Given the description of an element on the screen output the (x, y) to click on. 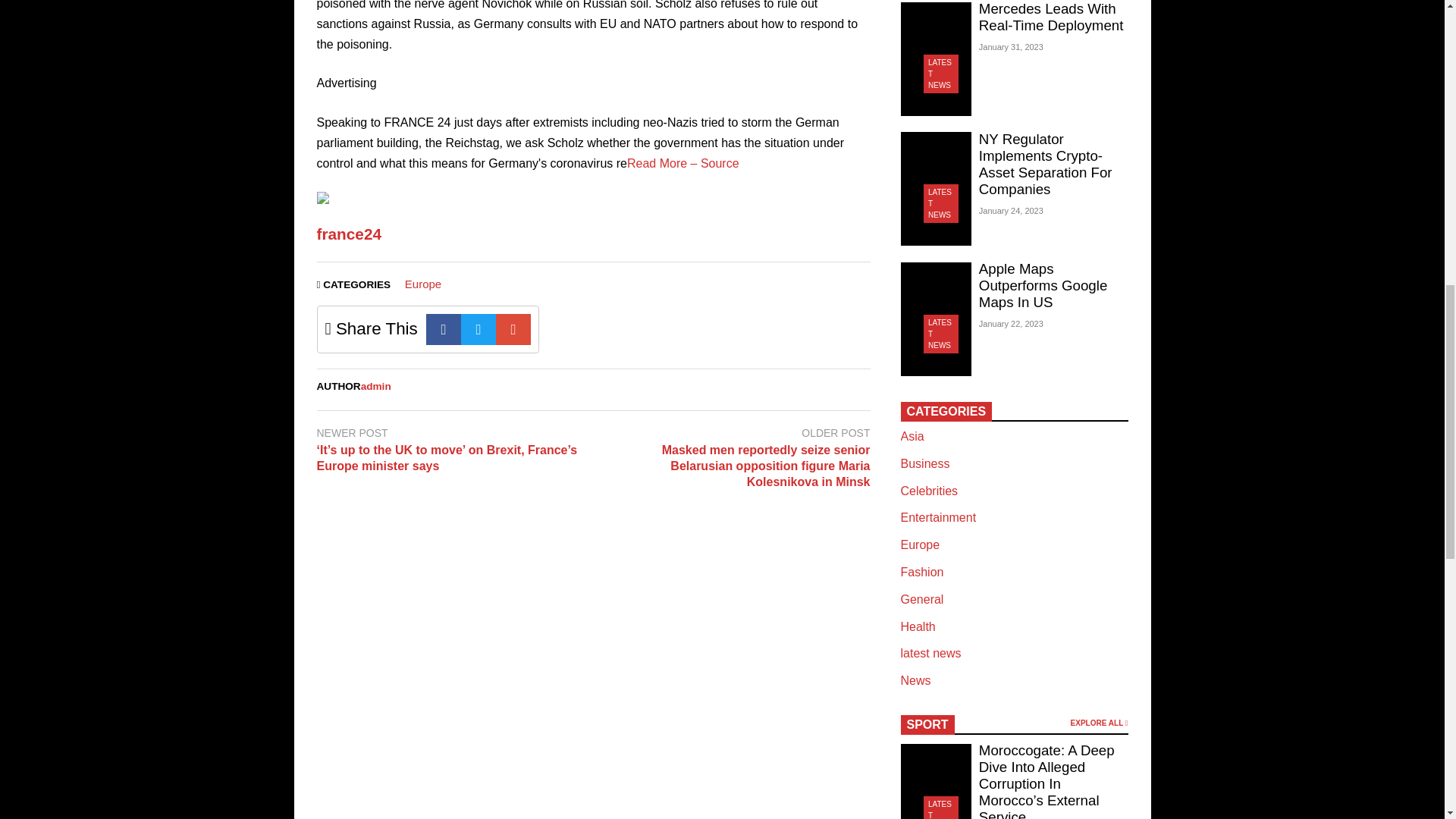
Facebook (443, 328)
admin (376, 386)
Twitter (478, 328)
france24 (349, 233)
Google-plus (513, 328)
Europe (422, 283)
